Given the description of an element on the screen output the (x, y) to click on. 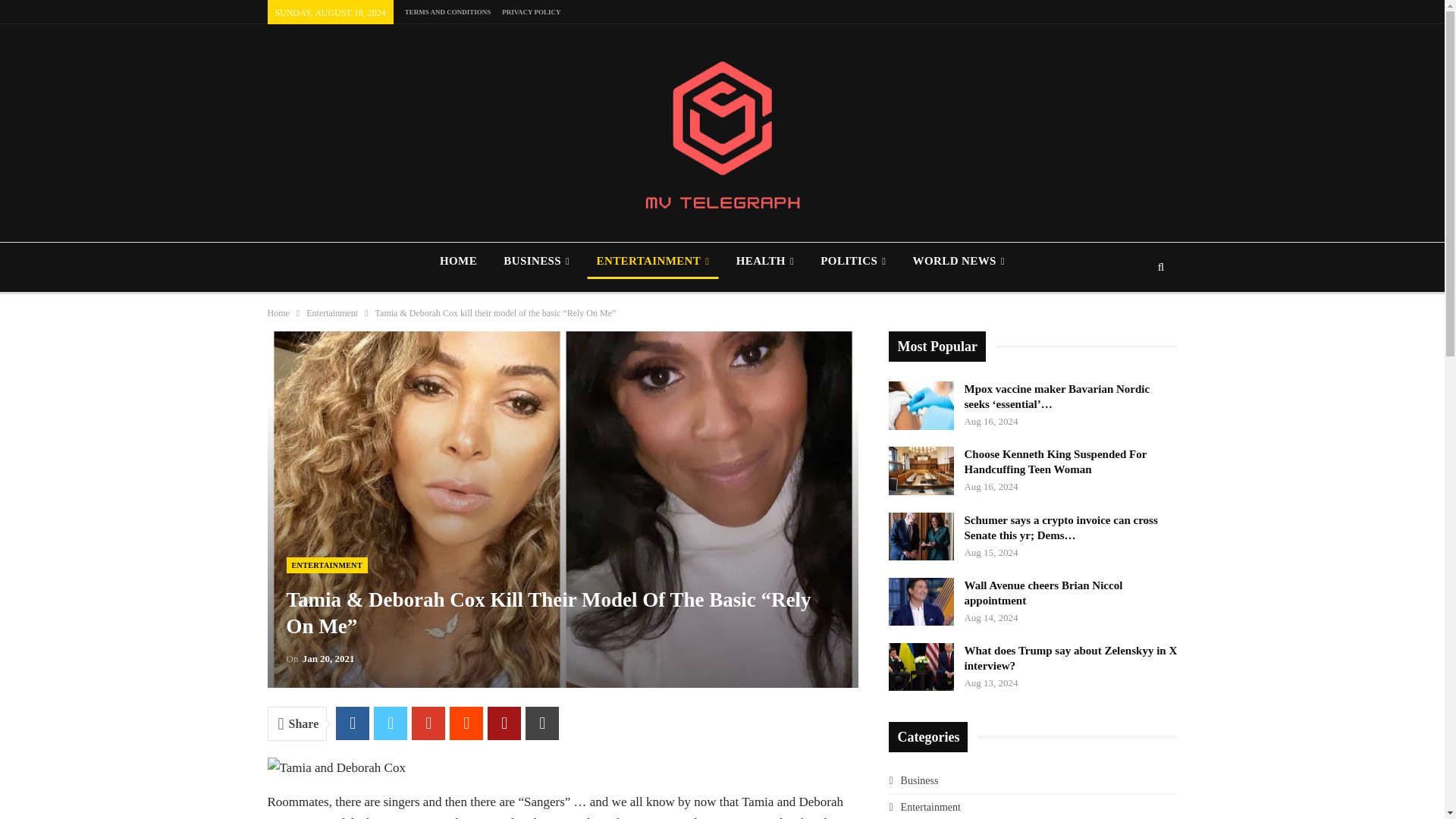
ENTERTAINMENT (651, 260)
HEALTH (764, 260)
TERMS AND CONDITIONS (448, 11)
HOME (458, 260)
BUSINESS (536, 260)
PRIVACY POLICY (531, 11)
